Given the description of an element on the screen output the (x, y) to click on. 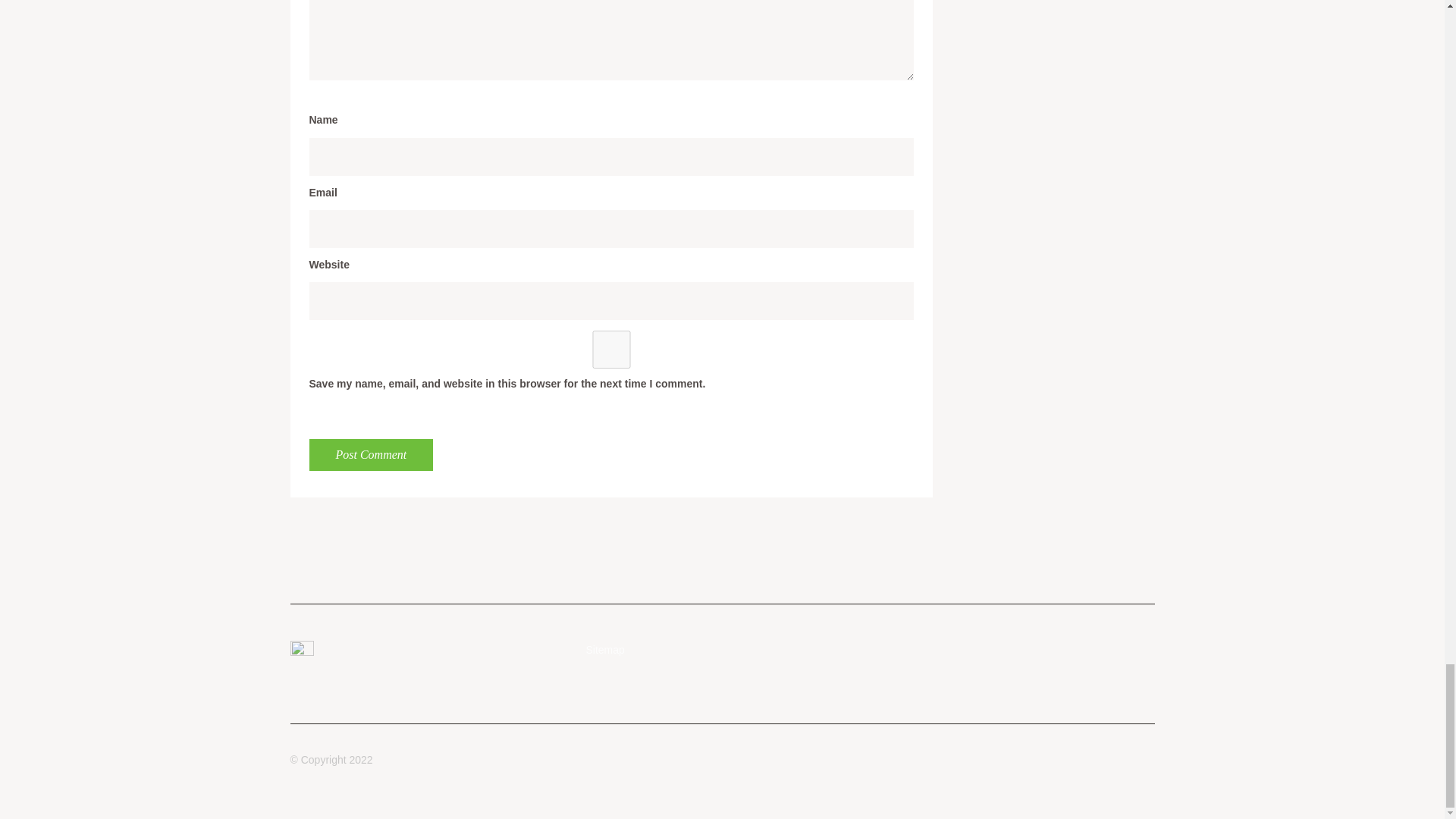
Sitemap (604, 649)
Post Comment (370, 454)
LiveInternet (301, 652)
yes (611, 349)
Post Comment (370, 454)
